Given the description of an element on the screen output the (x, y) to click on. 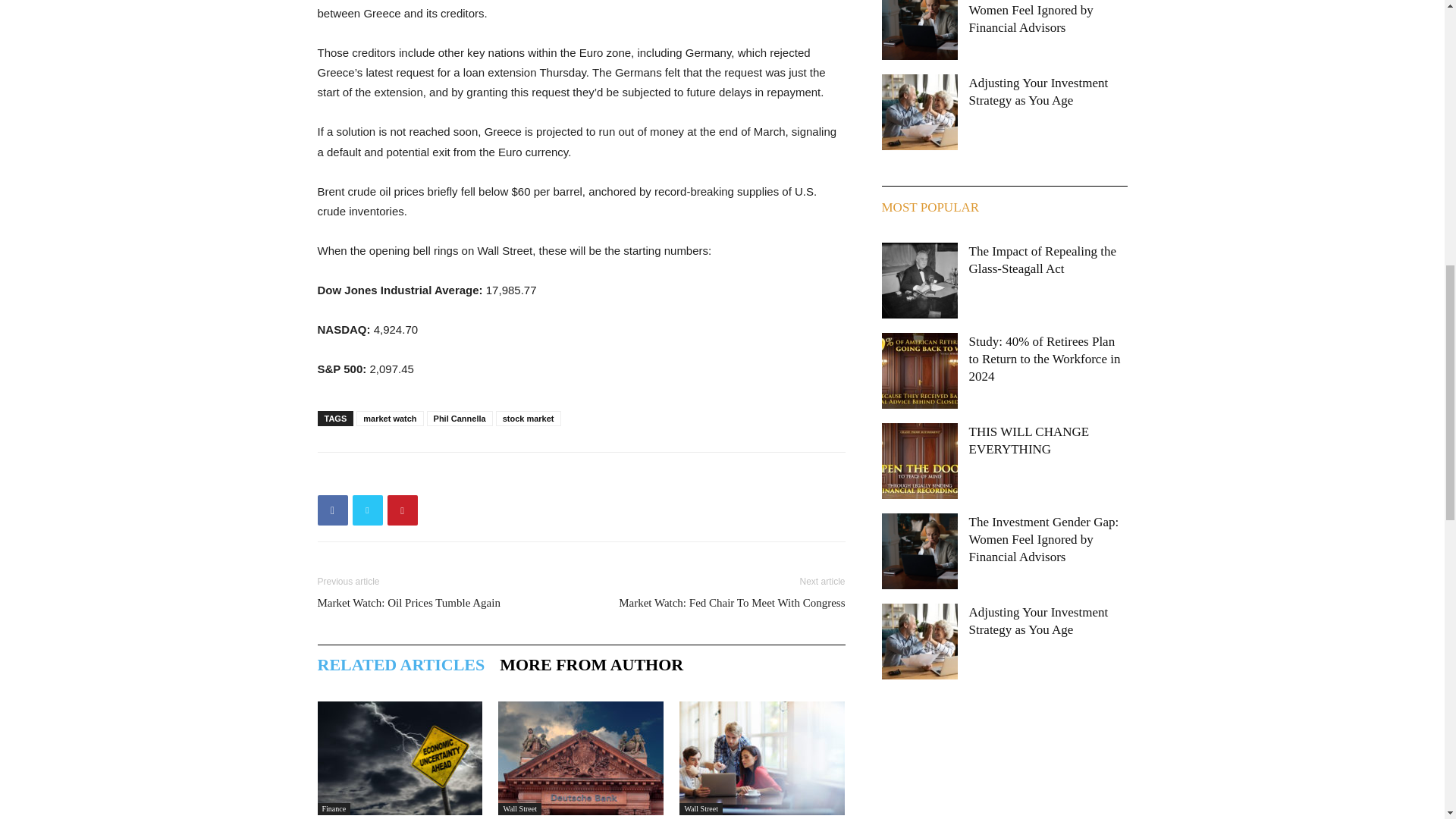
stock market (528, 418)
Phil Cannella (459, 418)
Is Deutsche Bank Doomed? (580, 757)
market watch (389, 418)
Teaching Teens About Financial Responsibility (761, 757)
Why Even Wall Street is Predicting a Recession (399, 757)
